Given the description of an element on the screen output the (x, y) to click on. 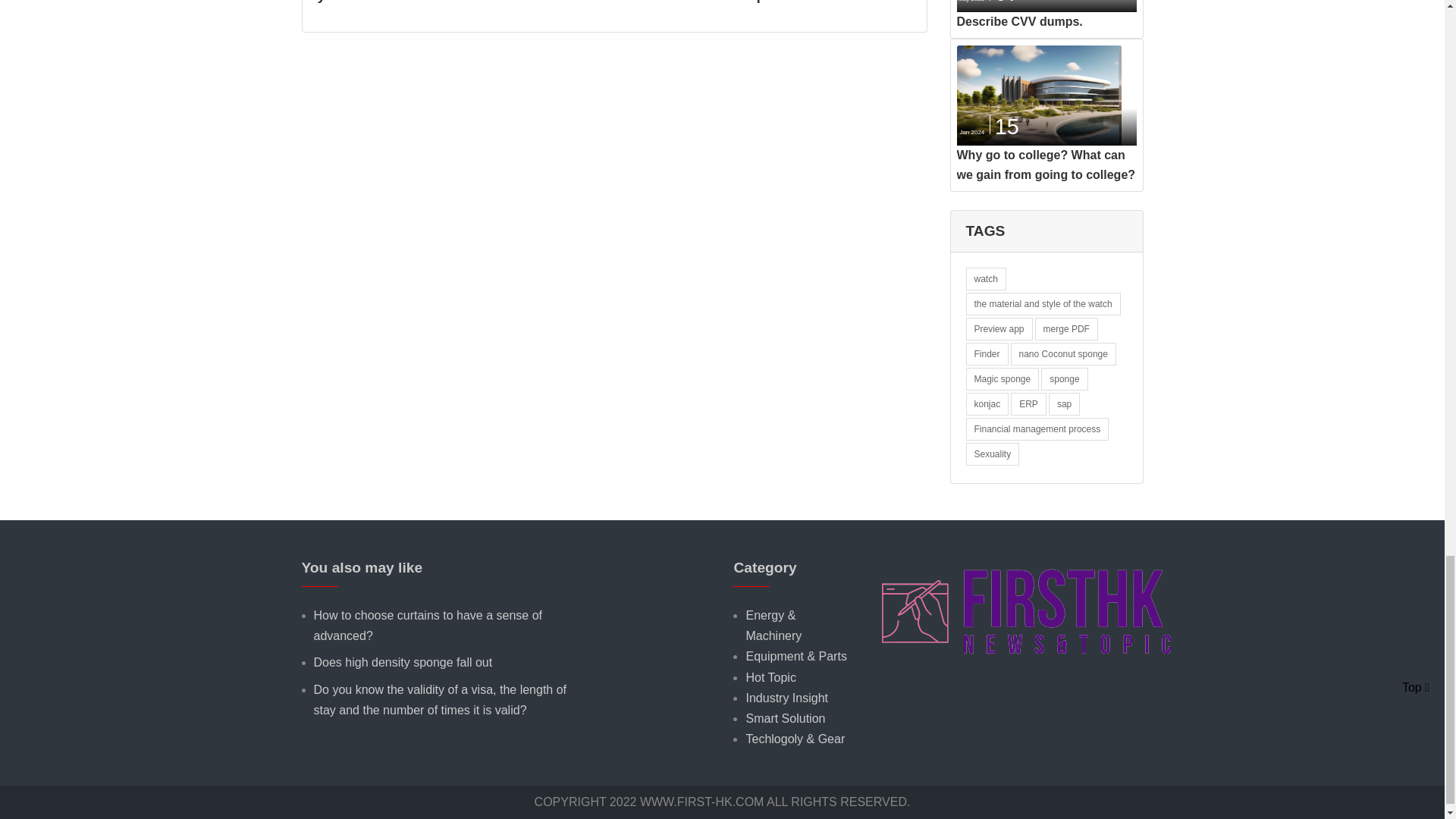
Can you change a TCM on your own? (408, 2)
9 highest-quality Telephone cable (785, 2)
How to combine PDFs on Mac? (609, 2)
